Given the description of an element on the screen output the (x, y) to click on. 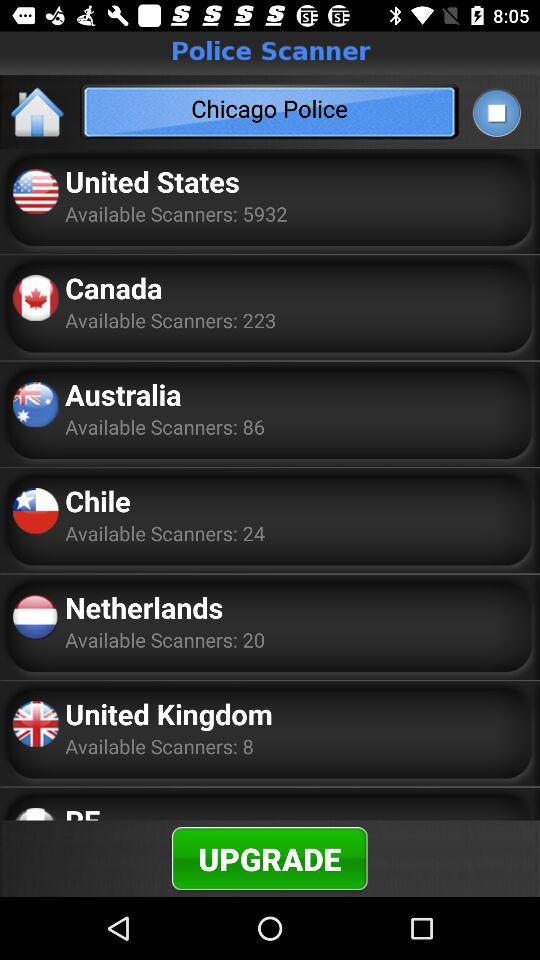
stop current (496, 111)
